Given the description of an element on the screen output the (x, y) to click on. 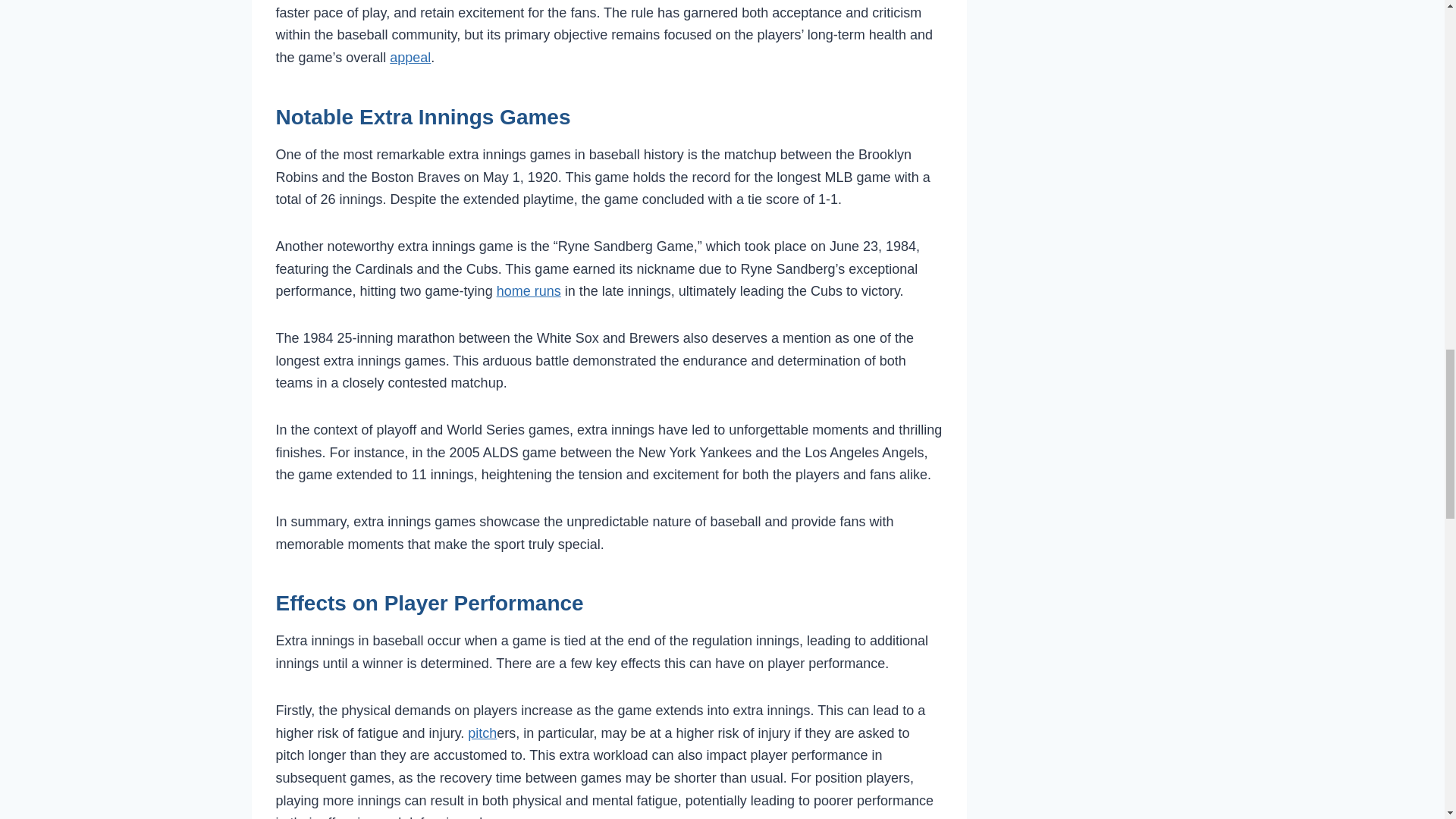
home runs (528, 290)
pitch (481, 733)
appeal (410, 57)
